Given the description of an element on the screen output the (x, y) to click on. 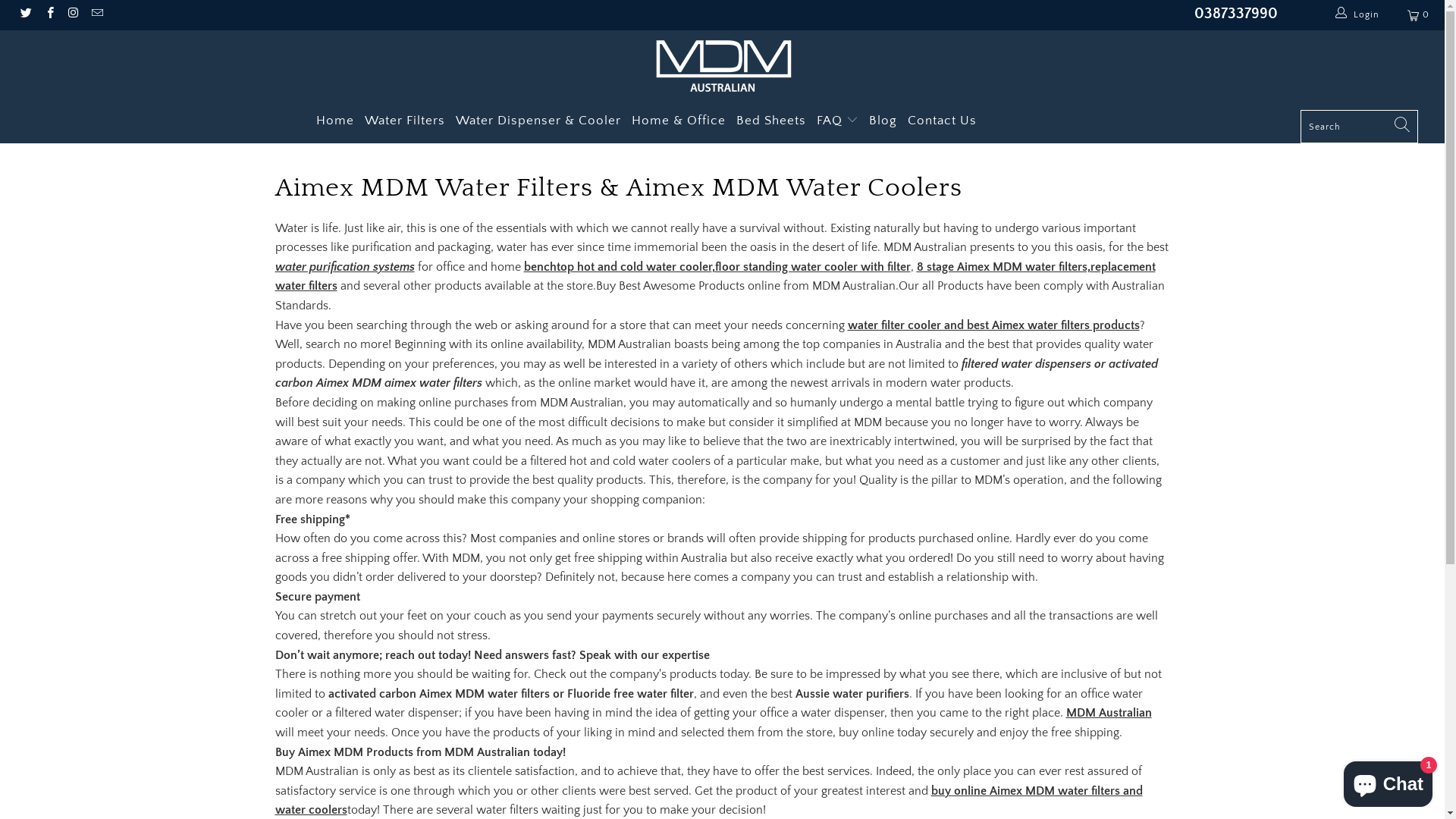
Contact Us Element type: text (941, 121)
Water Filters Element type: text (404, 121)
Login Element type: text (1357, 15)
0387337990 Element type: text (1235, 13)
Blog Element type: text (883, 121)
FAQ Element type: text (837, 121)
Home Element type: text (335, 121)
Bed Sheets Element type: text (771, 121)
MDMAustralian on Facebook Element type: hover (48, 14)
MDMAustralian Element type: hover (722, 65)
Home & Office Element type: text (678, 121)
0 Element type: text (1419, 15)
Email MDMAustralian Element type: hover (96, 14)
Shopify online store chat Element type: hover (1388, 780)
MDMAustralian on Twitter Element type: hover (24, 14)
Water Dispenser & Cooler Element type: text (538, 121)
MDMAustralian on Instagram Element type: hover (72, 14)
